Given the description of an element on the screen output the (x, y) to click on. 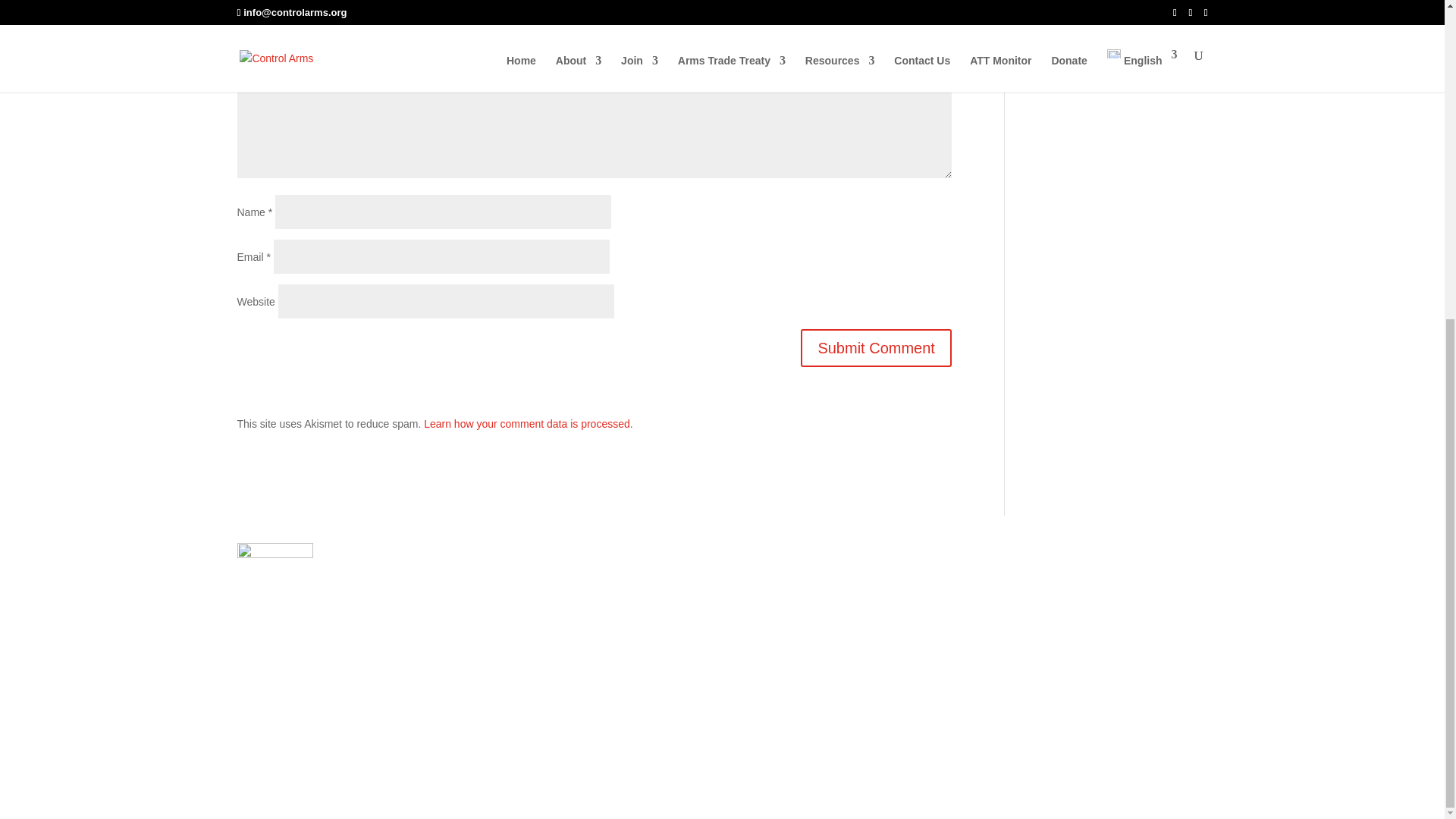
Submit Comment (876, 347)
Learn how your comment data is processed (526, 423)
CONTROL ARMS (331, 648)
Submit Comment (876, 347)
